Given the description of an element on the screen output the (x, y) to click on. 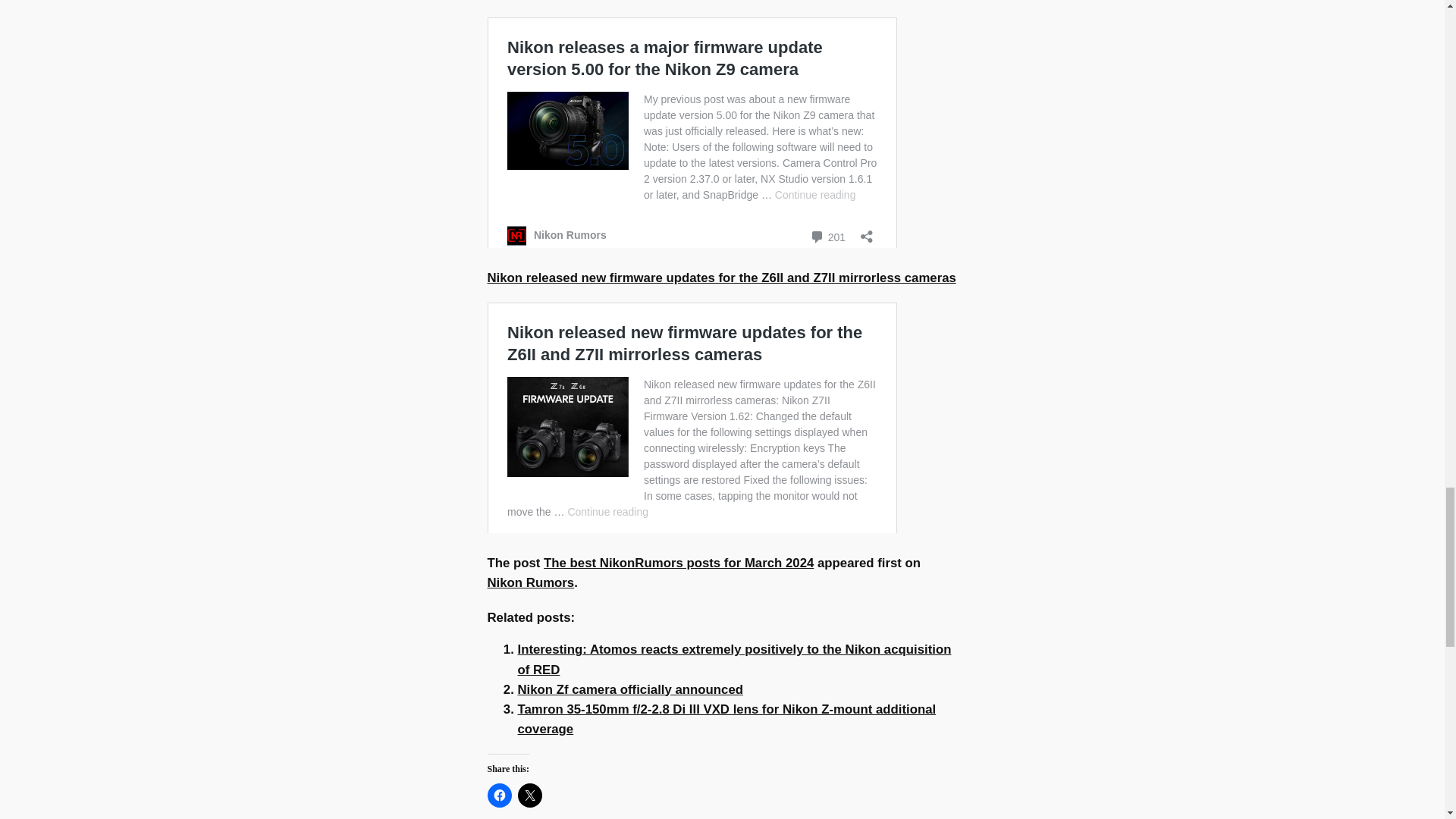
Nikon Rumors (529, 582)
The best NikonRumors posts for March 2024 (678, 563)
Nikon Zf camera officially announced (629, 689)
Nikon Zf camera officially announced (629, 689)
